Given the description of an element on the screen output the (x, y) to click on. 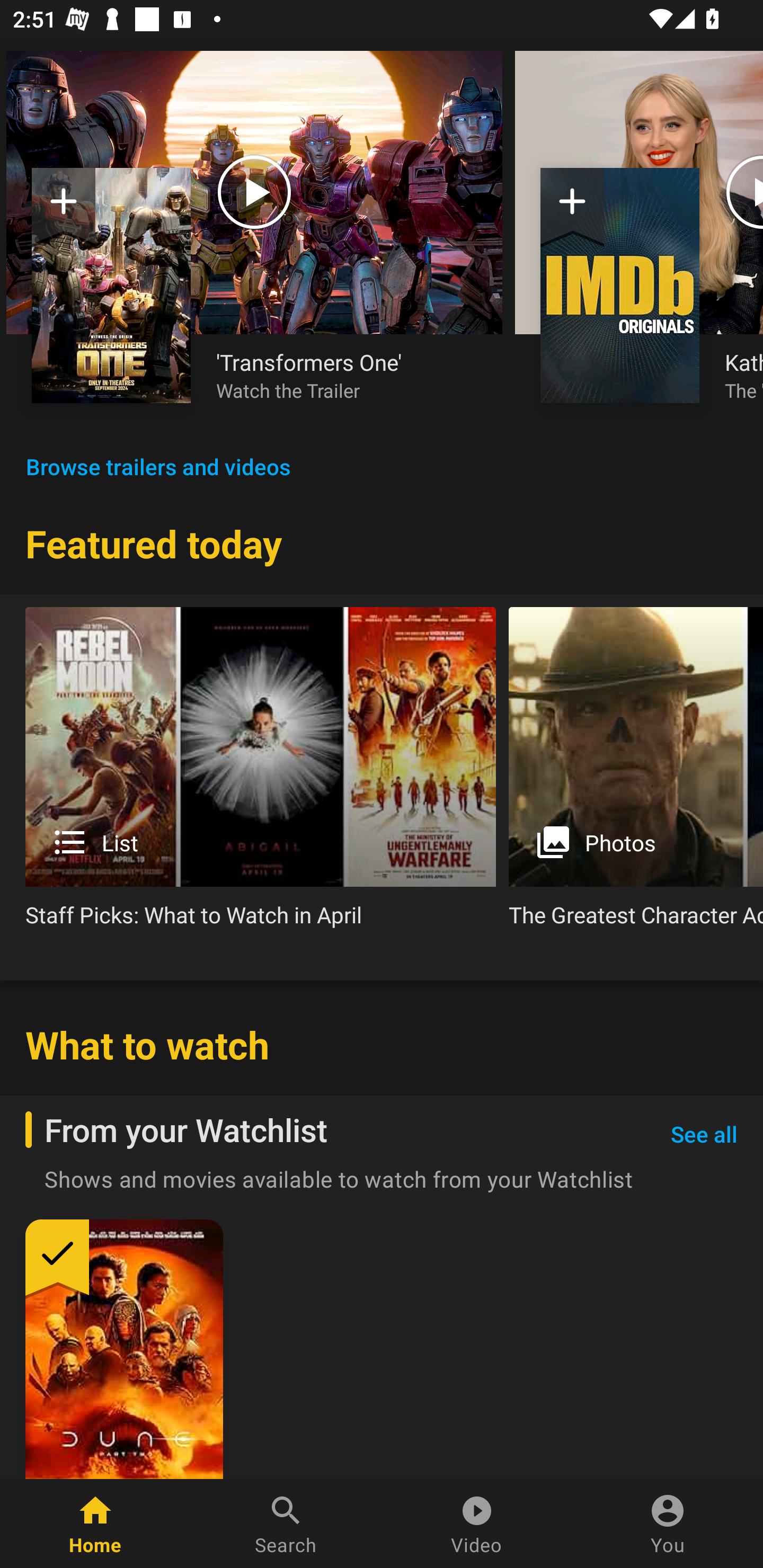
Not in watchlist (111, 284)
Not in watchlist (63, 207)
Not in watchlist (619, 284)
Not in watchlist (572, 207)
'Transformers One' Watch the Trailer (345, 374)
List Staff Picks: What to Watch in April (260, 774)
Photos The Greatest Character Actors of All Time (635, 774)
See all See all From your Watchlist (703, 1134)
Search (285, 1523)
Video (476, 1523)
You (667, 1523)
